Given the description of an element on the screen output the (x, y) to click on. 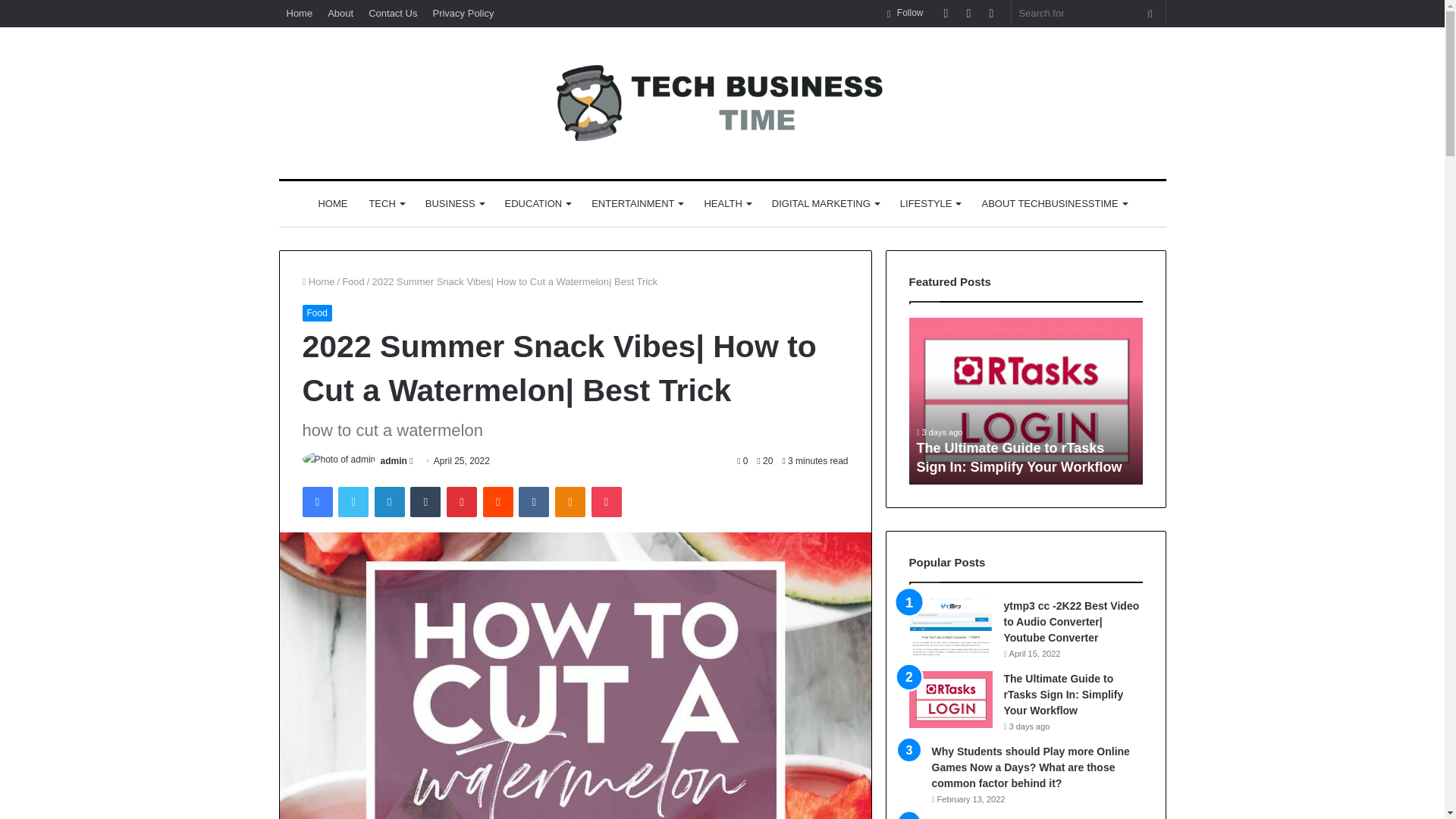
LinkedIn (389, 501)
admin (393, 460)
ABOUT TECHBUSINESSTIME (1054, 203)
Tech Business dTime (722, 102)
Contact Us (393, 13)
Privacy Policy (462, 13)
BUSINESS (454, 203)
Reddit (498, 501)
TECH (385, 203)
HEALTH (726, 203)
VKontakte (533, 501)
Home (317, 281)
Pinterest (461, 501)
Odnoklassniki (569, 501)
Follow (905, 13)
